Given the description of an element on the screen output the (x, y) to click on. 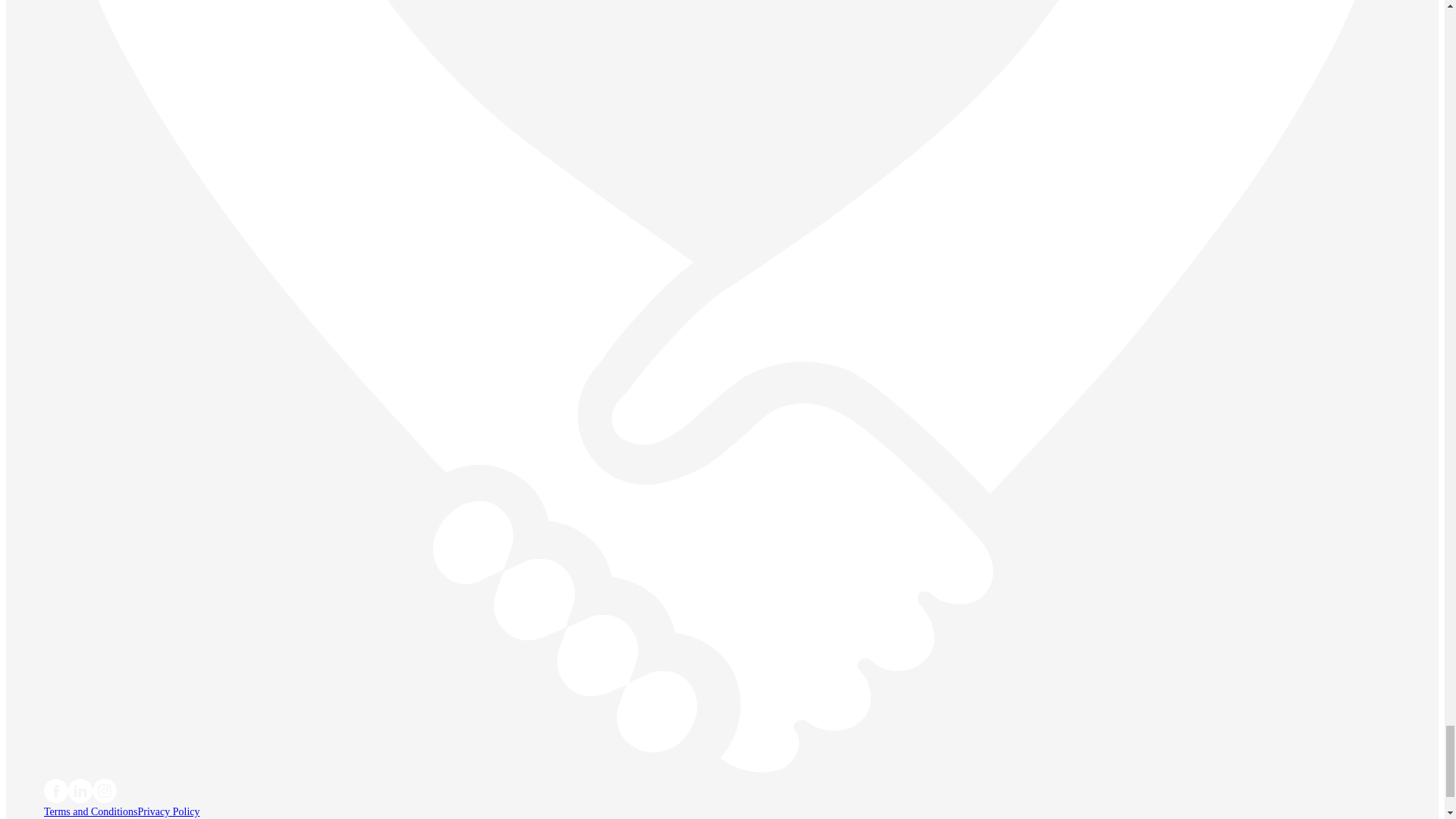
Cookies Policy (75, 818)
Terms and Conditions (89, 811)
Privacy Policy (167, 811)
